Given the description of an element on the screen output the (x, y) to click on. 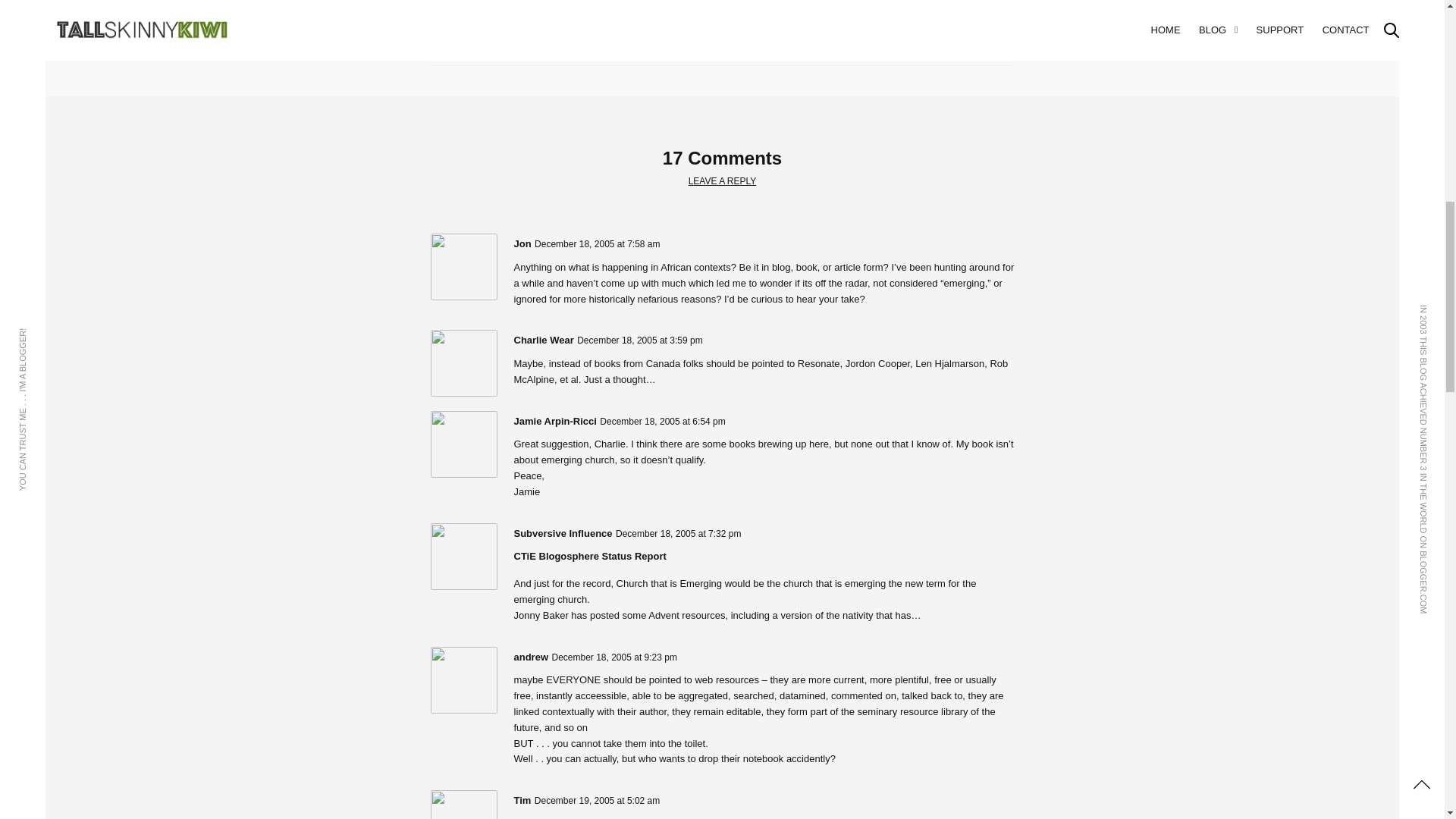
December 18, 2005 at 3:59 pm (638, 339)
December 18, 2005 at 6:54 pm (662, 421)
December 19, 2005 at 5:02 am (596, 800)
Charlie Wear (543, 339)
Subversive Influence (562, 532)
Tim (522, 799)
andrew (530, 656)
December 18, 2005 at 7:58 am (596, 244)
Jamie Arpin-Ricci (554, 420)
LEAVE A REPLY (722, 181)
